Given the description of an element on the screen output the (x, y) to click on. 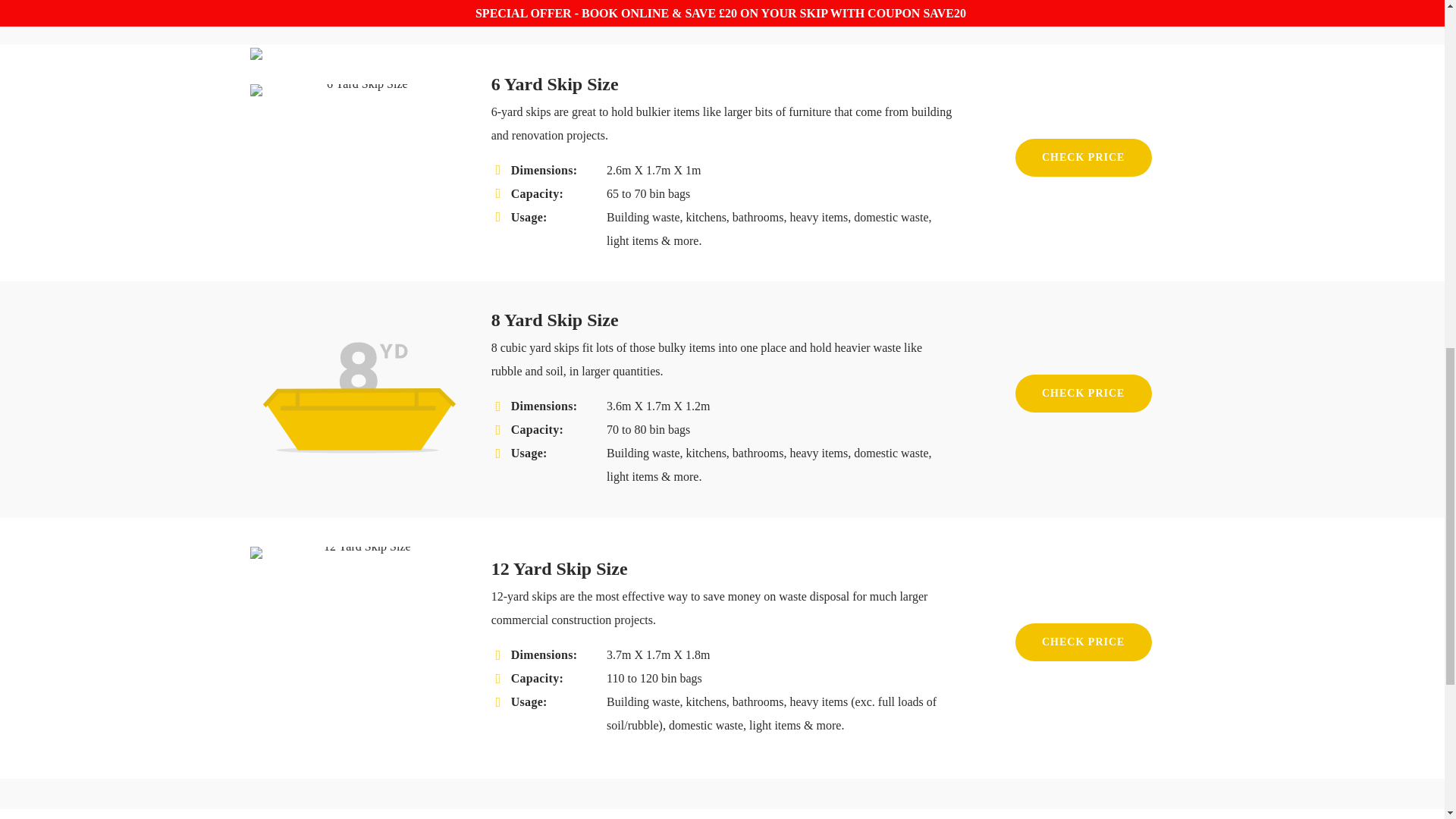
CHECK PRICE (1082, 641)
CHECK PRICE (1082, 157)
CHECK PRICE (1082, 393)
